Given the description of an element on the screen output the (x, y) to click on. 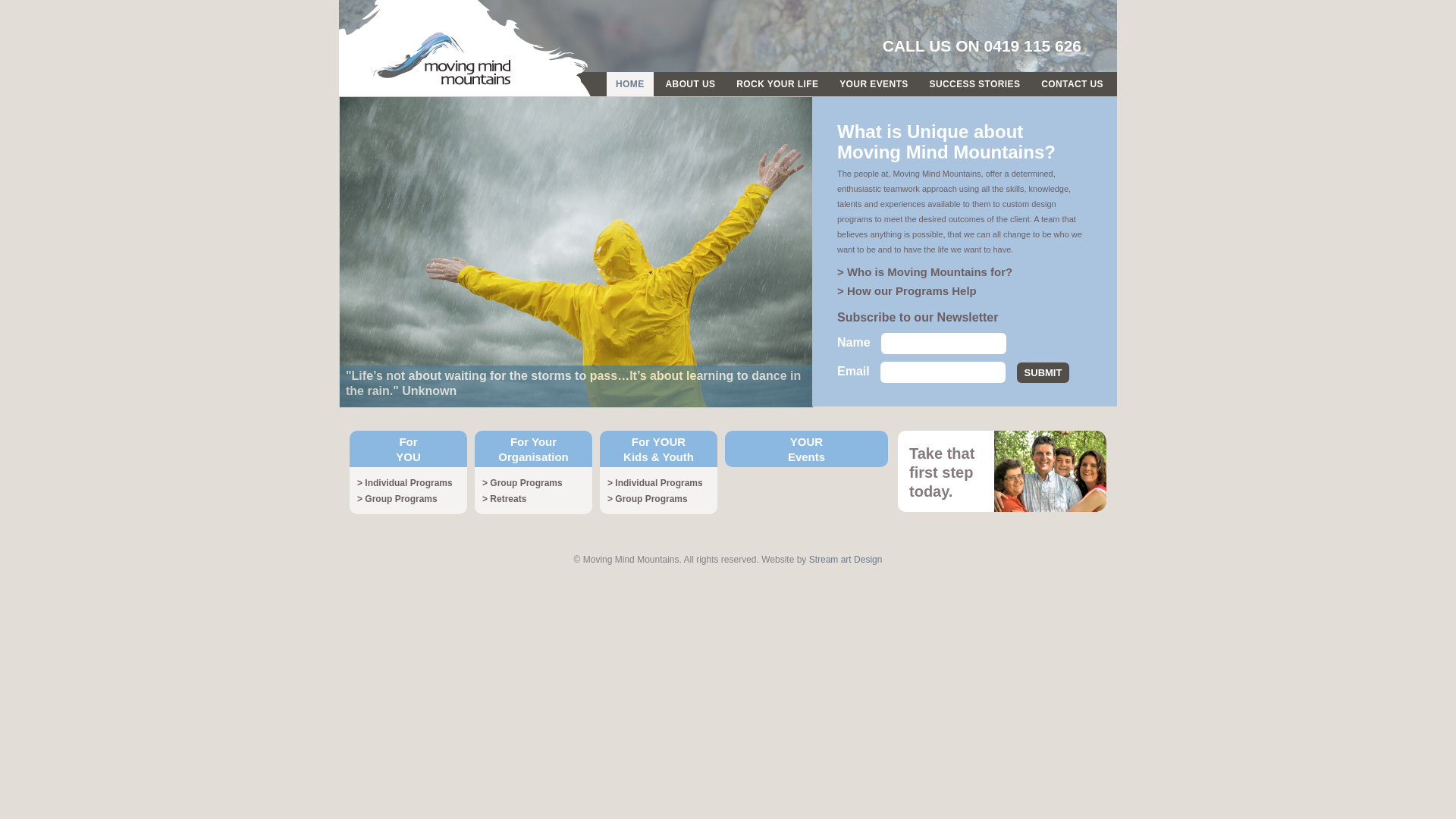
> Individual Programs Element type: text (404, 482)
CONTACT US Element type: text (1072, 84)
> Group Programs Element type: text (522, 482)
ABOUT US Element type: text (690, 84)
HOME Element type: text (629, 84)
SUCCESS STORIES Element type: text (974, 84)
> Group Programs Element type: text (647, 498)
Submit Element type: text (1043, 372)
YOUR
Events Element type: text (806, 449)
> Who is Moving Mountains for? Element type: text (924, 271)
> How our Programs Help Element type: text (906, 290)
> Individual Programs Element type: text (654, 482)
> Retreats Element type: text (504, 498)
Stream art Design Element type: text (845, 559)
ROCK YOUR LIFE Element type: text (777, 84)
> Group Programs Element type: text (397, 498)
YOUR EVENTS Element type: text (873, 84)
